Given the description of an element on the screen output the (x, y) to click on. 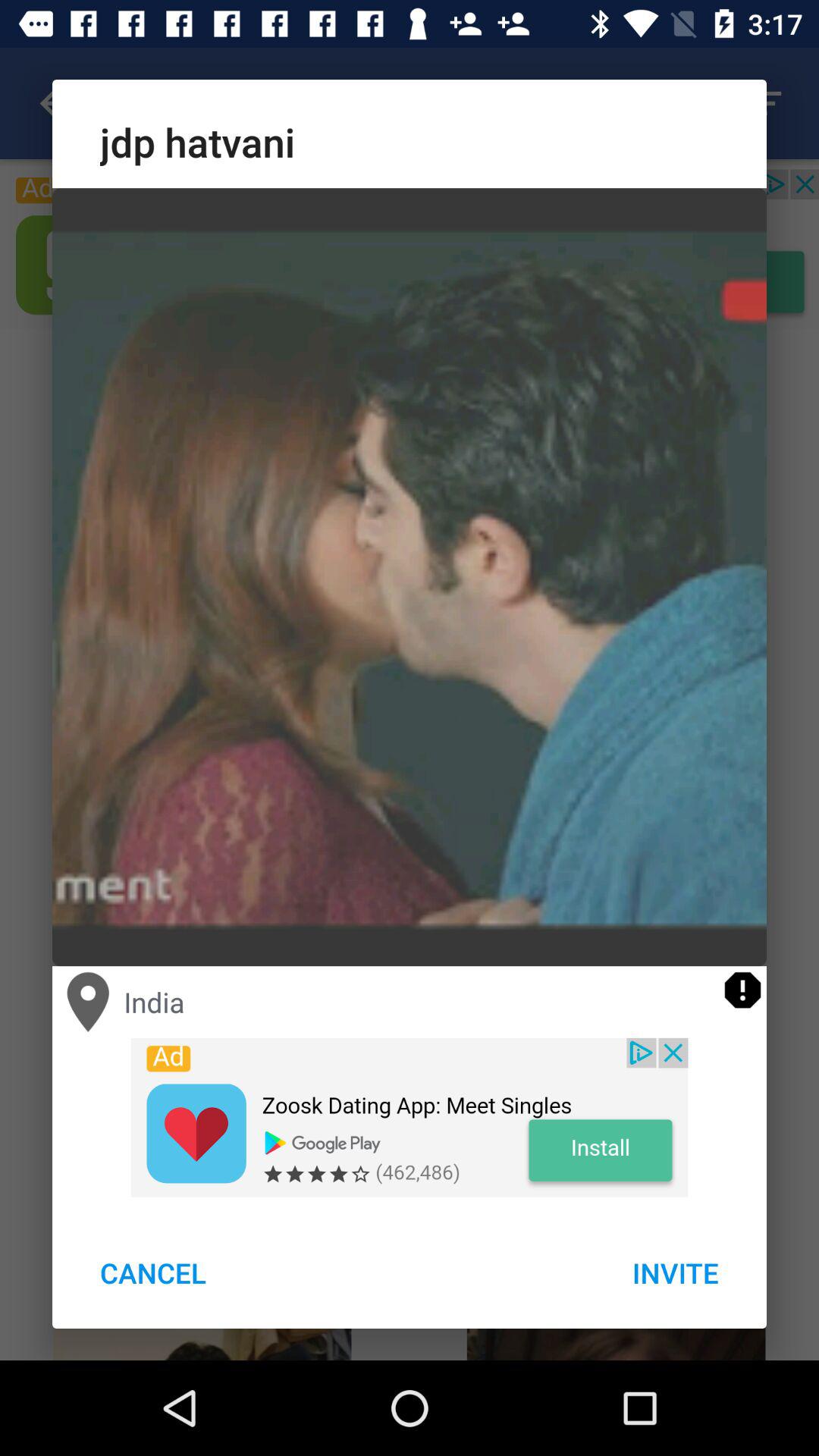
updates process (742, 990)
